Given the description of an element on the screen output the (x, y) to click on. 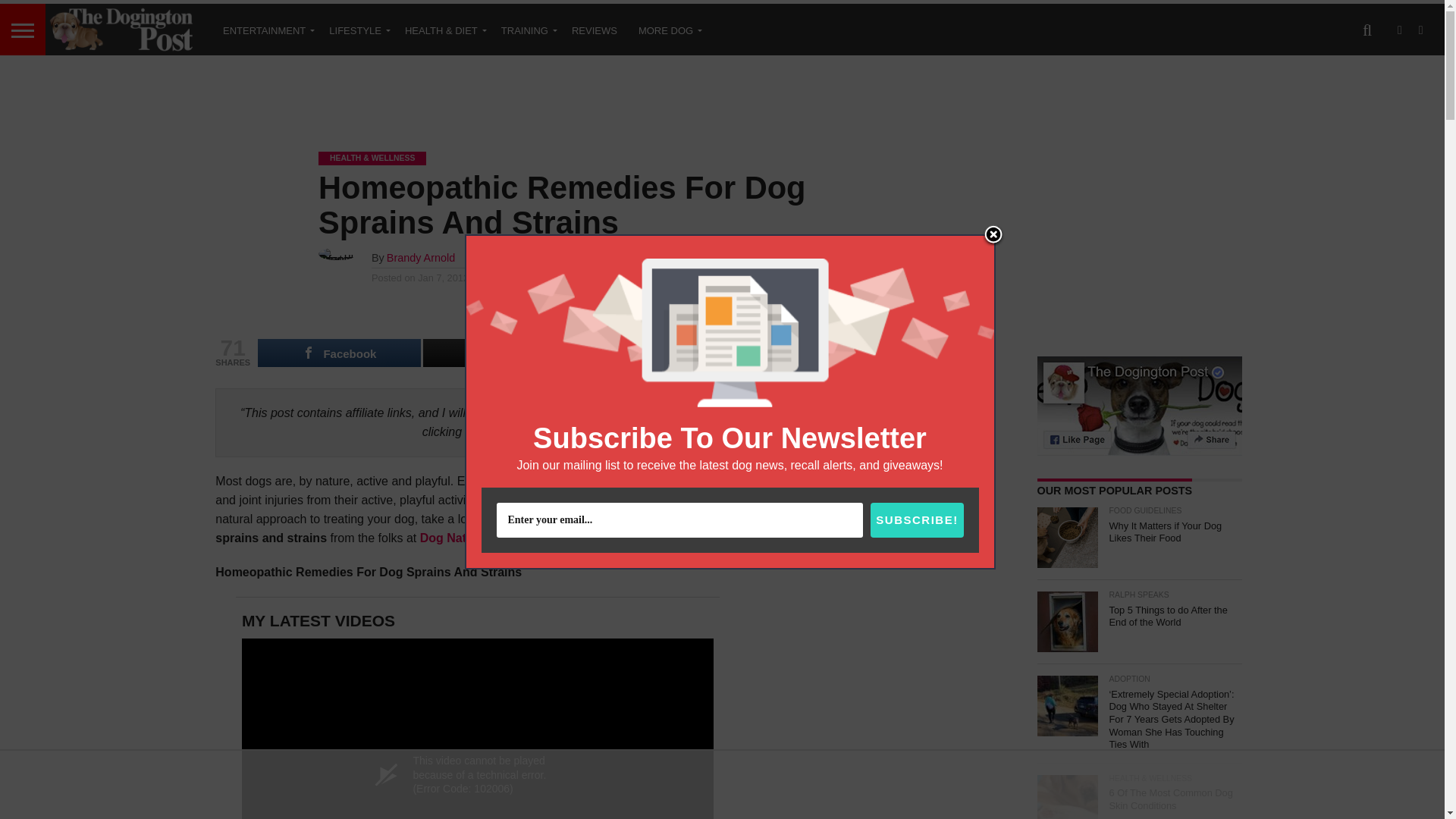
SUBSCRIBE! (916, 519)
Posts by Brandy Arnold (420, 257)
